Given the description of an element on the screen output the (x, y) to click on. 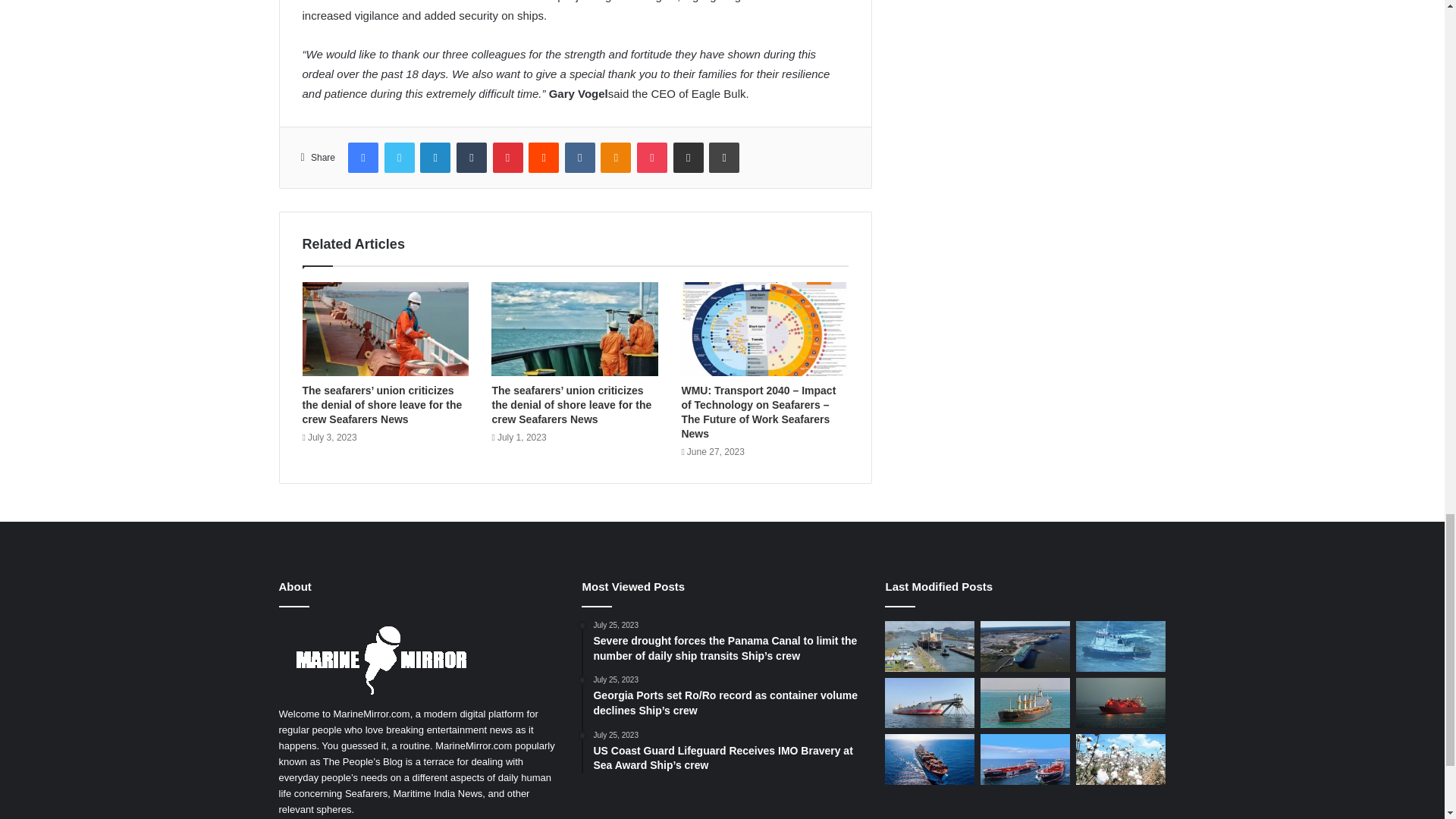
VKontakte (579, 157)
Odnoklassniki (614, 157)
Pocket (651, 157)
Reddit (543, 157)
LinkedIn (434, 157)
Facebook (362, 157)
Share via Email (687, 157)
Twitter (399, 157)
Pinterest (507, 157)
Tumblr (471, 157)
Print (724, 157)
